Given the description of an element on the screen output the (x, y) to click on. 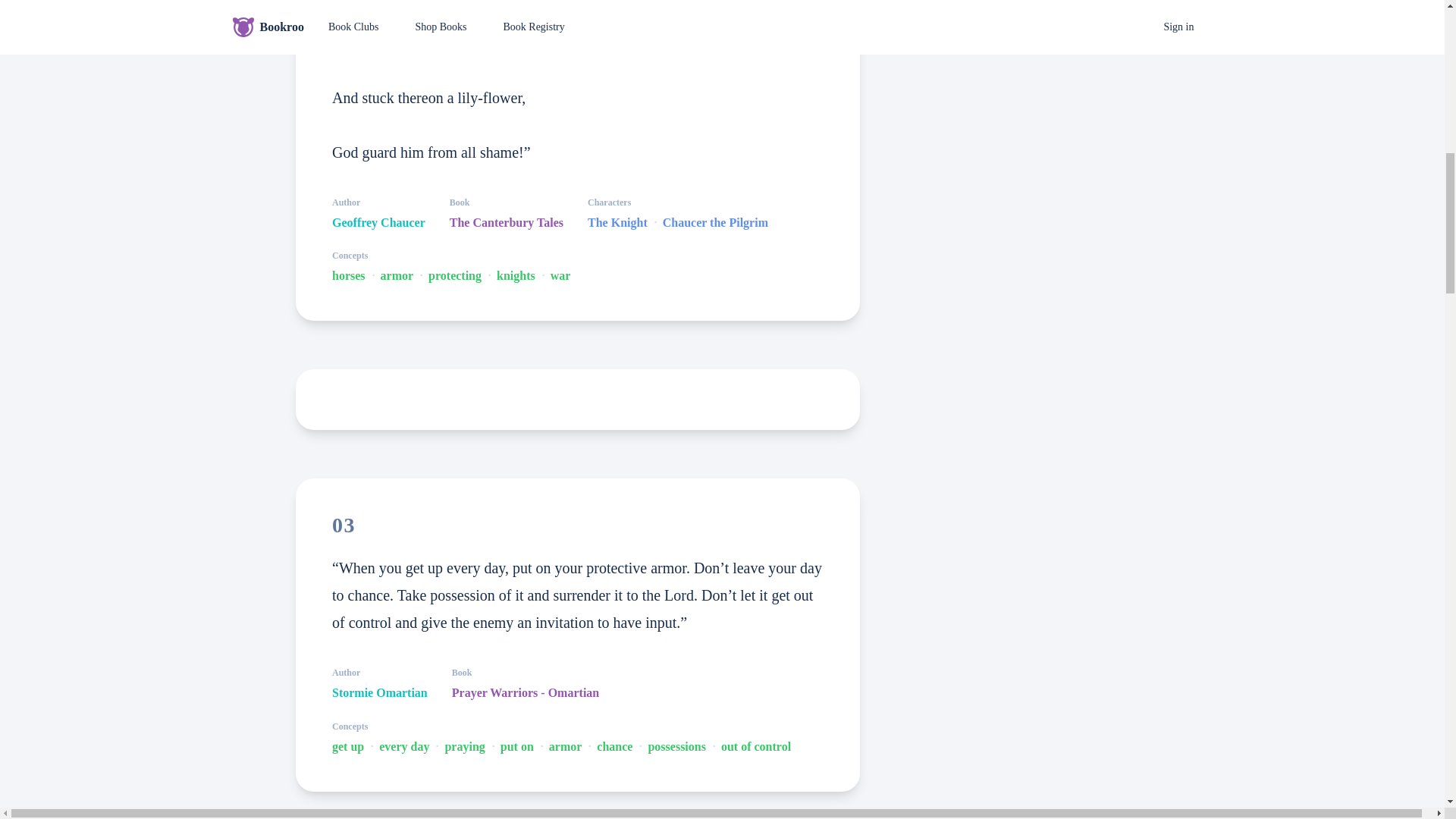
get up (347, 746)
The Knight (617, 222)
armor (565, 746)
chance (613, 746)
put on (517, 746)
praying (464, 746)
Geoffrey Chaucer (378, 222)
horses (348, 275)
Stormie Omartian (379, 692)
The Canterbury Tales (506, 222)
possessions (675, 746)
knights (515, 275)
Prayer Warriors - Omartian (524, 692)
every day (403, 746)
out of control (755, 746)
